Given the description of an element on the screen output the (x, y) to click on. 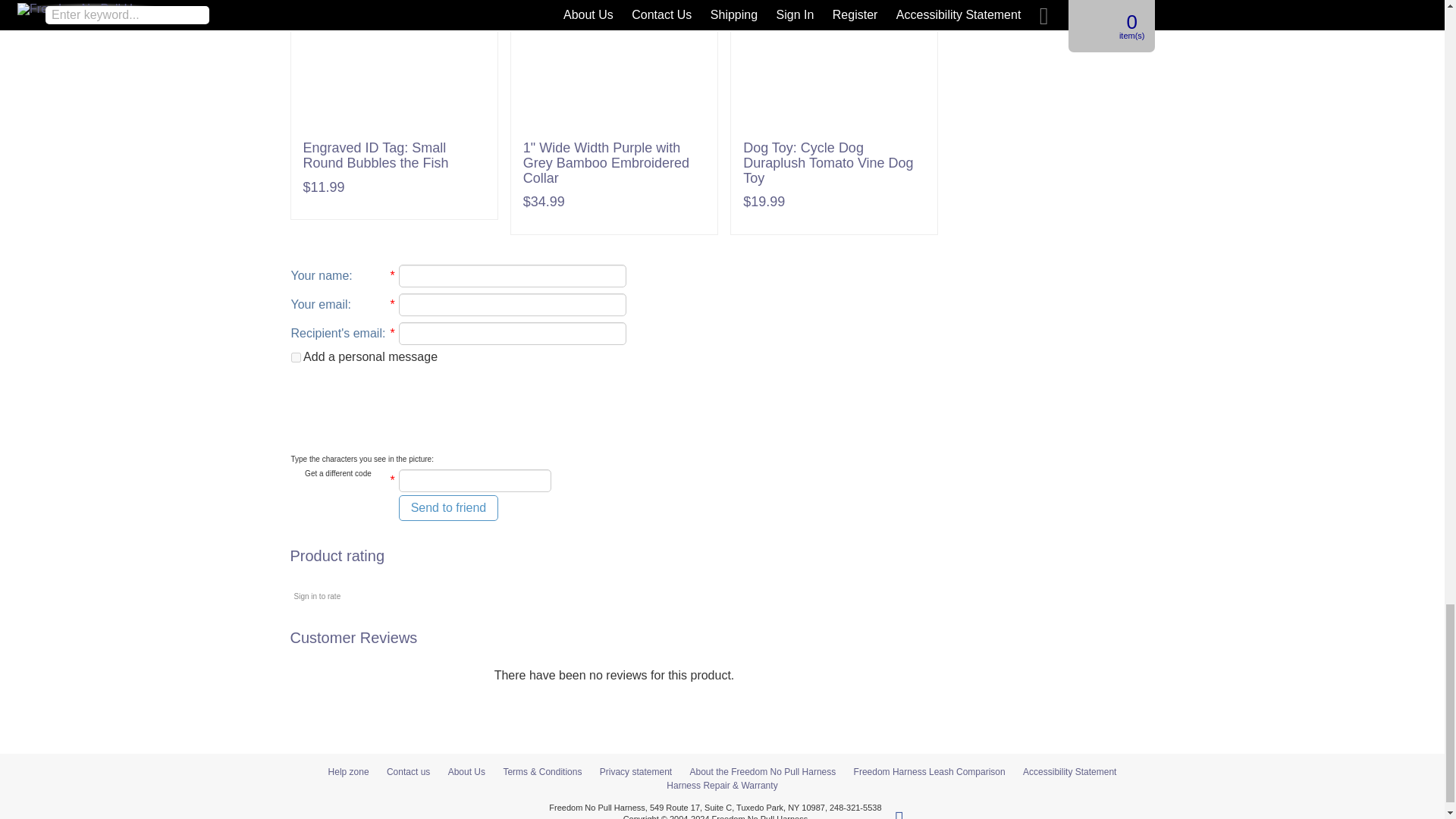
Y (296, 357)
